Given the description of an element on the screen output the (x, y) to click on. 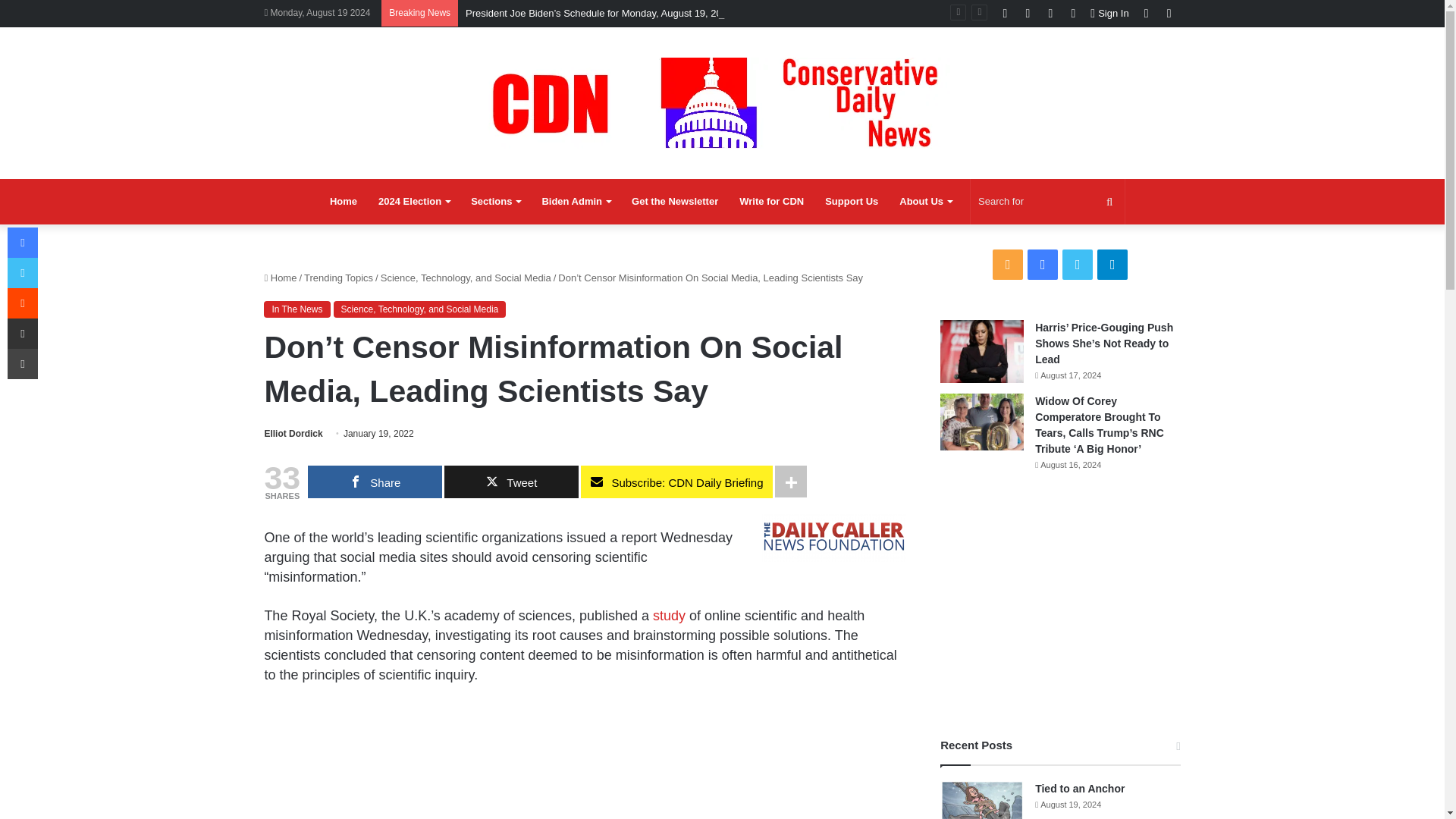
Elliot Dordick (292, 433)
Support CDN With a Small Donation (850, 201)
Conservative Daily News (721, 102)
Support Us (850, 201)
2024 Election (414, 201)
Sections (495, 201)
Get the Newsletter (675, 201)
Advertisement (584, 761)
Home (343, 201)
Write for CDN (771, 201)
